Given the description of an element on the screen output the (x, y) to click on. 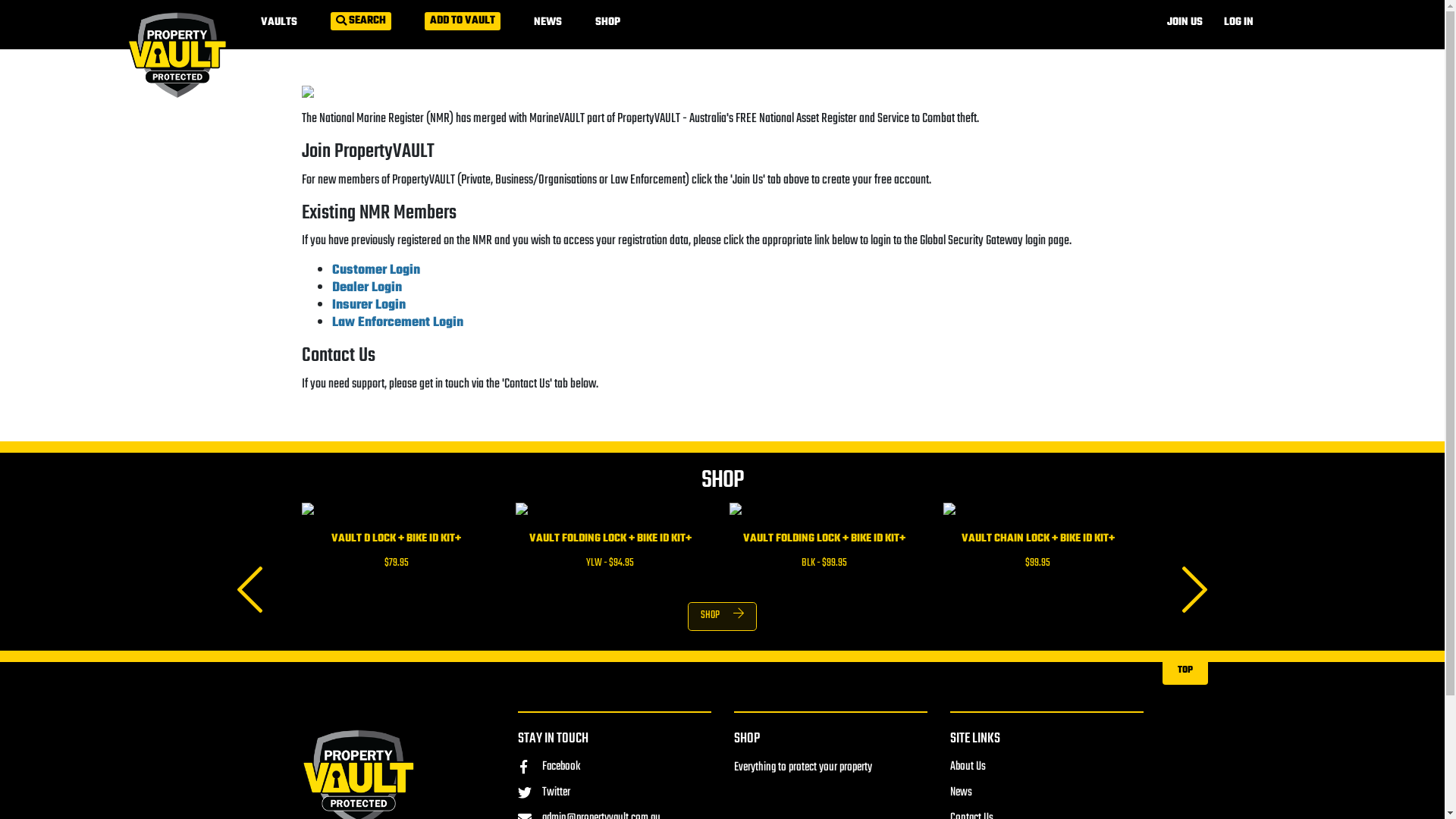
Dealer Login Element type: text (366, 287)
VAULT FOLDING LOCK + BIKE ID KIT+
BLK - $99.95 Element type: text (824, 541)
Previous Element type: text (249, 595)
SEARCH Element type: text (360, 21)
Insurer Login Element type: text (368, 304)
SHOP Element type: text (746, 738)
TOP Element type: text (1184, 661)
LOG IN Element type: text (1238, 22)
SHOP Element type: text (606, 22)
Customer Login Element type: text (376, 270)
Facebook Element type: text (548, 766)
About Us Element type: text (967, 766)
Law Enforcement Login Element type: text (397, 322)
JOIN US Element type: text (1183, 22)
SHOP Element type: text (721, 616)
ADD TO VAULT Element type: text (462, 21)
VAULT CHAIN LOCK + BIKE ID KIT+
$99.95 Element type: text (1038, 541)
Next Element type: text (1194, 595)
VAULT FOLDING LOCK + BIKE ID KIT+
YLW - $94.95 Element type: text (610, 541)
VAULT D LOCK + BIKE ID KIT+
$79.95 Element type: text (396, 541)
NEWS Element type: text (547, 22)
News Element type: text (960, 792)
Twitter Element type: text (543, 792)
